Given the description of an element on the screen output the (x, y) to click on. 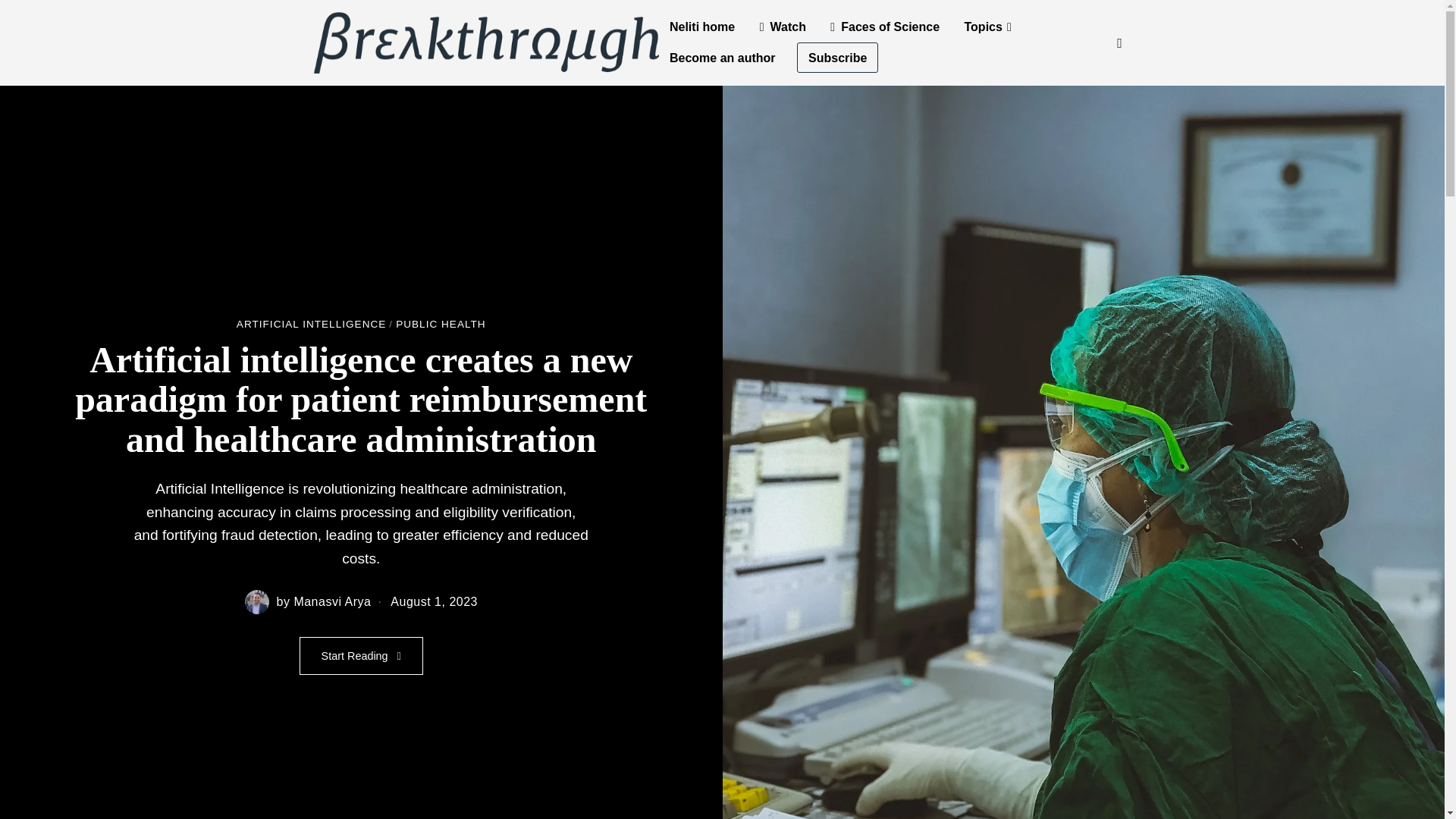
Start Reading (361, 655)
Manasvi Arya (332, 601)
Subscribe (837, 58)
Faces of Science (884, 27)
Become an author (722, 58)
PUBLIC HEALTH (441, 324)
Start Reading (361, 655)
Neliti home (702, 27)
Topics (987, 27)
Start Reading (361, 655)
